Given the description of an element on the screen output the (x, y) to click on. 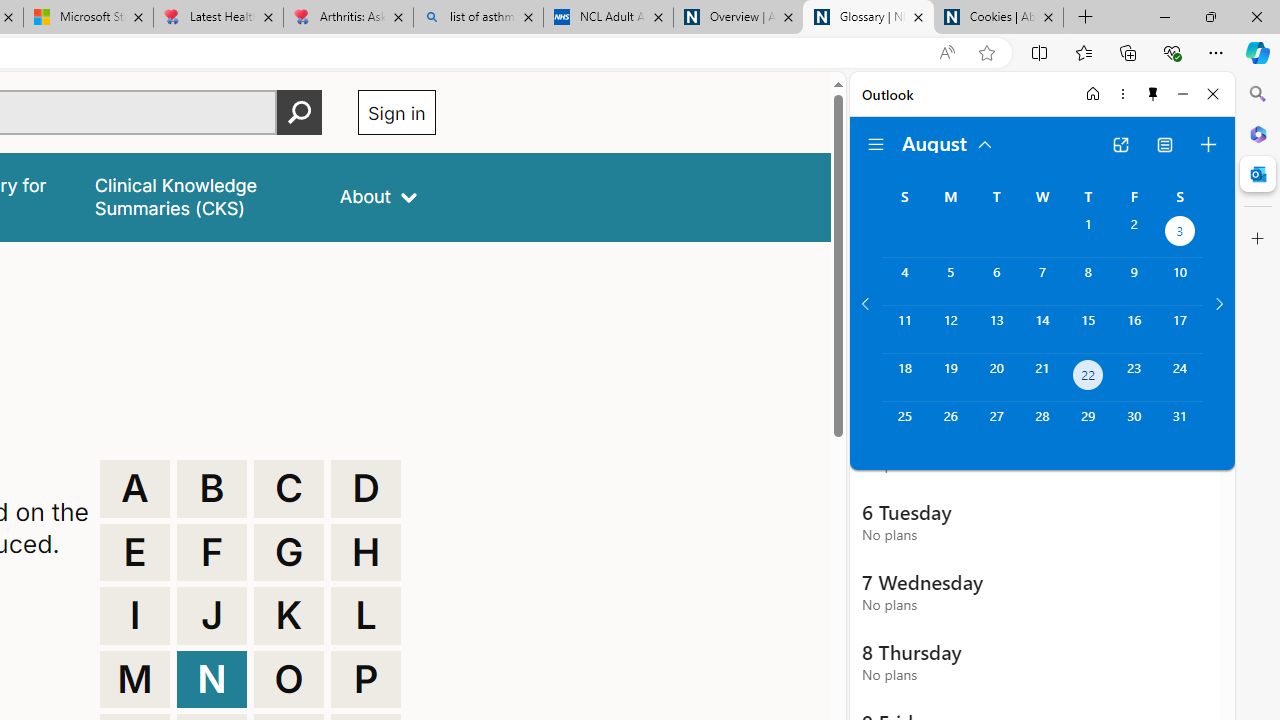
Microsoft 365 (1258, 133)
Sunday, August 25, 2024.  (904, 425)
Close Outlook pane (1258, 174)
Tuesday, August 13, 2024.  (996, 329)
Saturday, August 3, 2024. Date selected.  (1180, 233)
Friday, August 2, 2024.  (1134, 233)
Wednesday, August 7, 2024.  (1042, 281)
G (289, 551)
Saturday, August 10, 2024.  (1180, 281)
C (289, 488)
O (289, 679)
Unpin side pane (1153, 93)
M (134, 679)
